Given the description of an element on the screen output the (x, y) to click on. 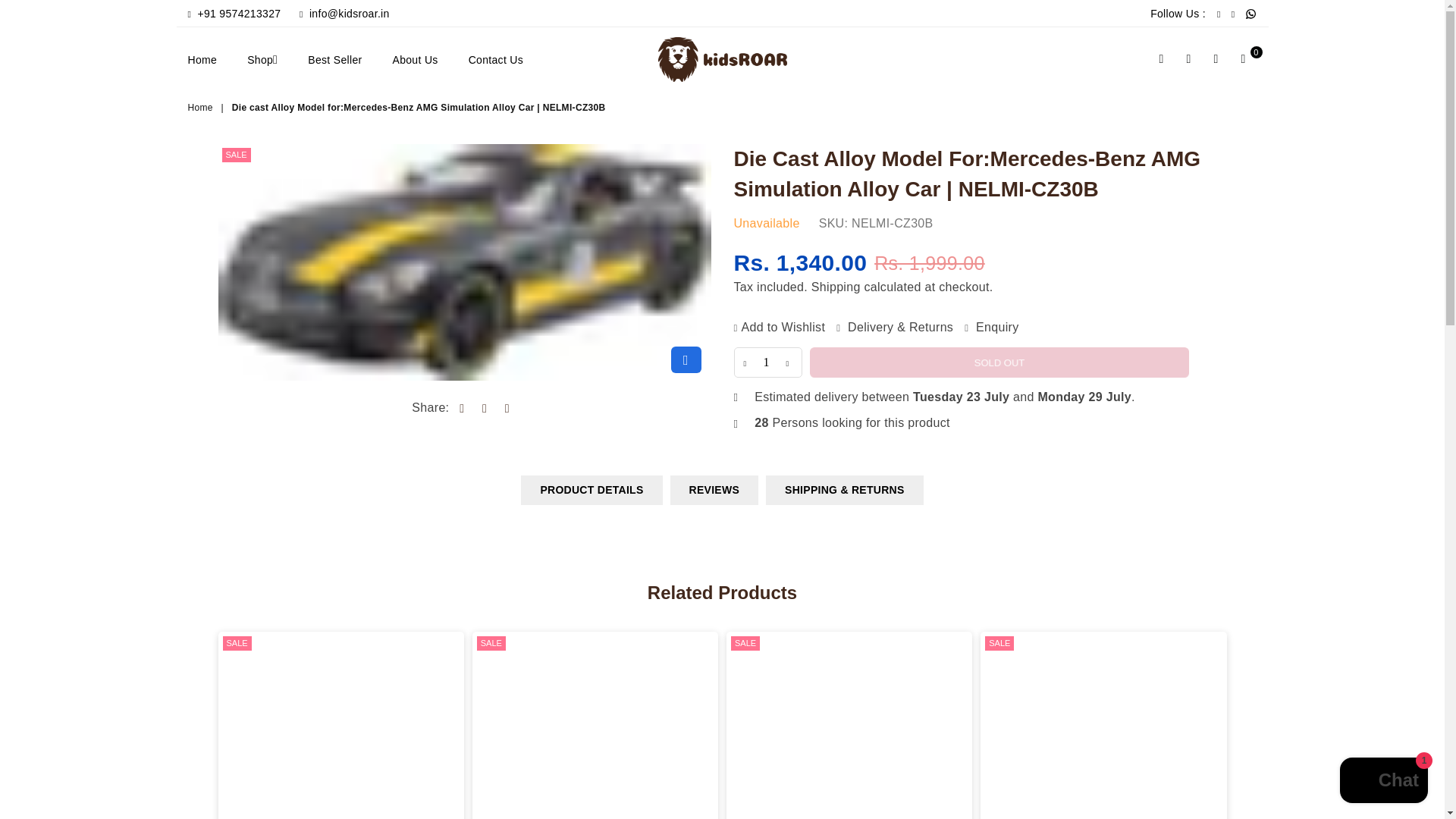
Quantity (767, 362)
KidsROAR on Facebook (1218, 13)
Whatsapp (1250, 13)
Shop (261, 58)
Instagram (1232, 13)
Facebook (1218, 13)
KidsROAR on Instagram (1232, 13)
Wishlist (1216, 59)
Cart (1243, 59)
Back to the home page (201, 107)
KidsROAR on Whatsapp (1250, 13)
Home (207, 58)
Search (1161, 59)
Settings (1188, 59)
